Given the description of an element on the screen output the (x, y) to click on. 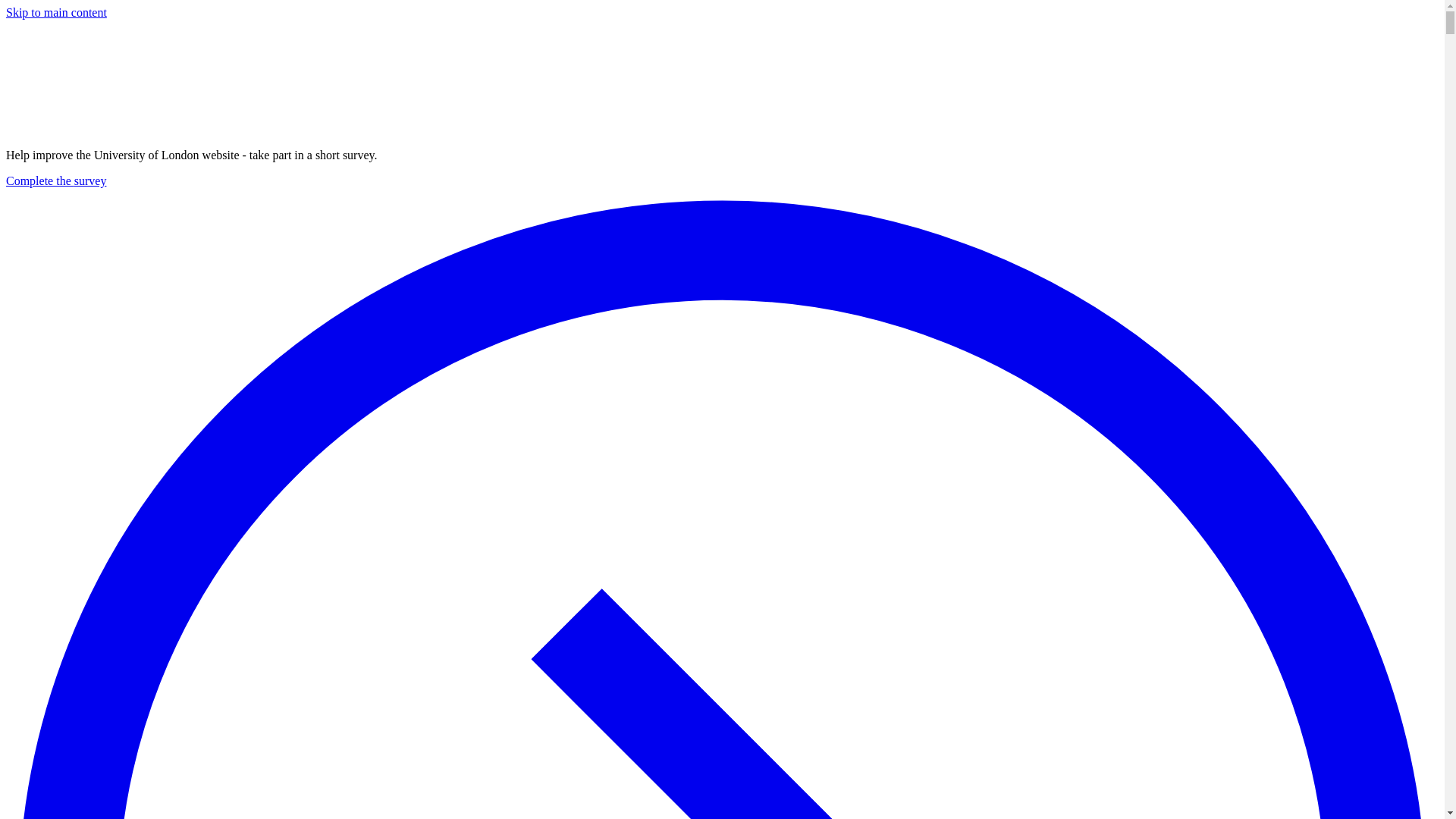
Skip to main content (55, 11)
